Given the description of an element on the screen output the (x, y) to click on. 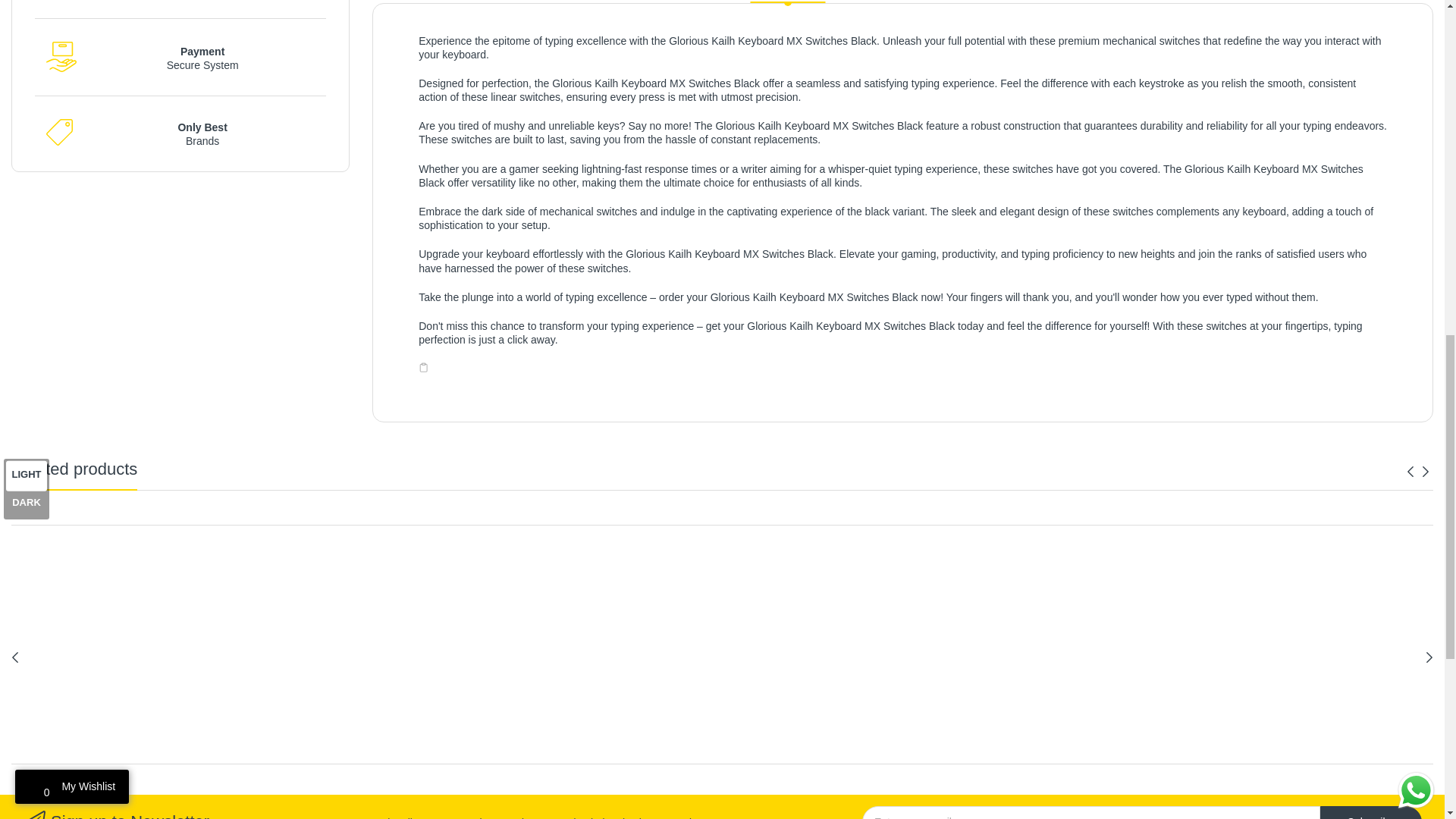
electro-payment (61, 56)
electro-brands-icon (59, 131)
